Given the description of an element on the screen output the (x, y) to click on. 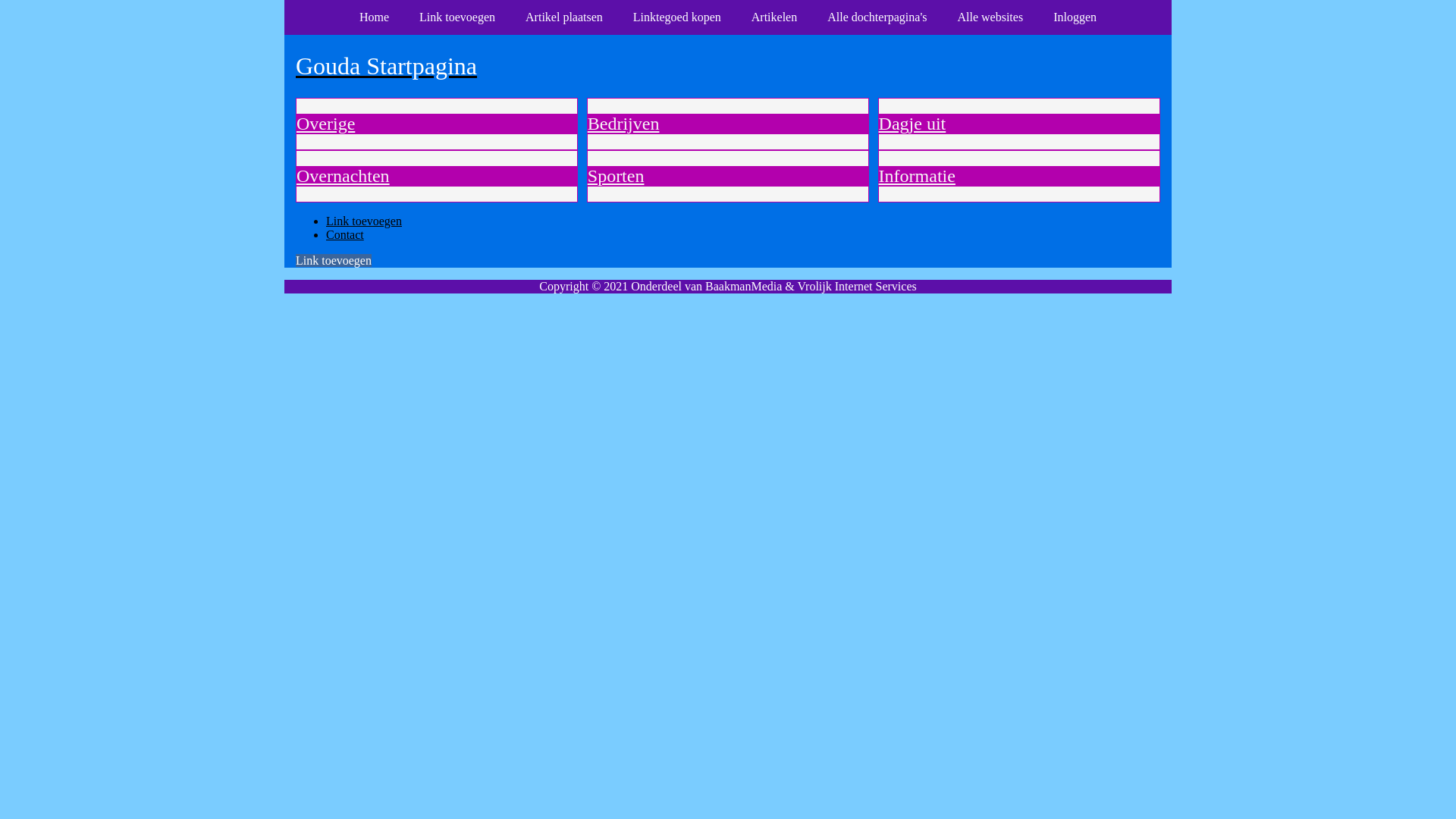
Linktegoed kopen Element type: text (677, 17)
Bedrijven Element type: text (623, 123)
Contact Element type: text (345, 233)
Link toevoegen Element type: text (363, 219)
Gouda Startpagina Element type: text (727, 65)
Vrolijk Internet Services Element type: text (856, 285)
Artikel plaatsen Element type: text (564, 17)
Artikelen Element type: text (774, 17)
Inloggen Element type: text (1074, 17)
BaakmanMedia Element type: text (743, 285)
Link toevoegen Element type: text (457, 17)
Sporten Element type: text (615, 175)
Home Element type: text (374, 17)
Informatie Element type: text (916, 175)
Alle dochterpagina's Element type: text (876, 17)
Overnachten Element type: text (342, 175)
Link toevoegen Element type: text (333, 259)
Alle websites Element type: text (989, 17)
Dagje uit Element type: text (912, 123)
Overige Element type: text (325, 123)
